Given the description of an element on the screen output the (x, y) to click on. 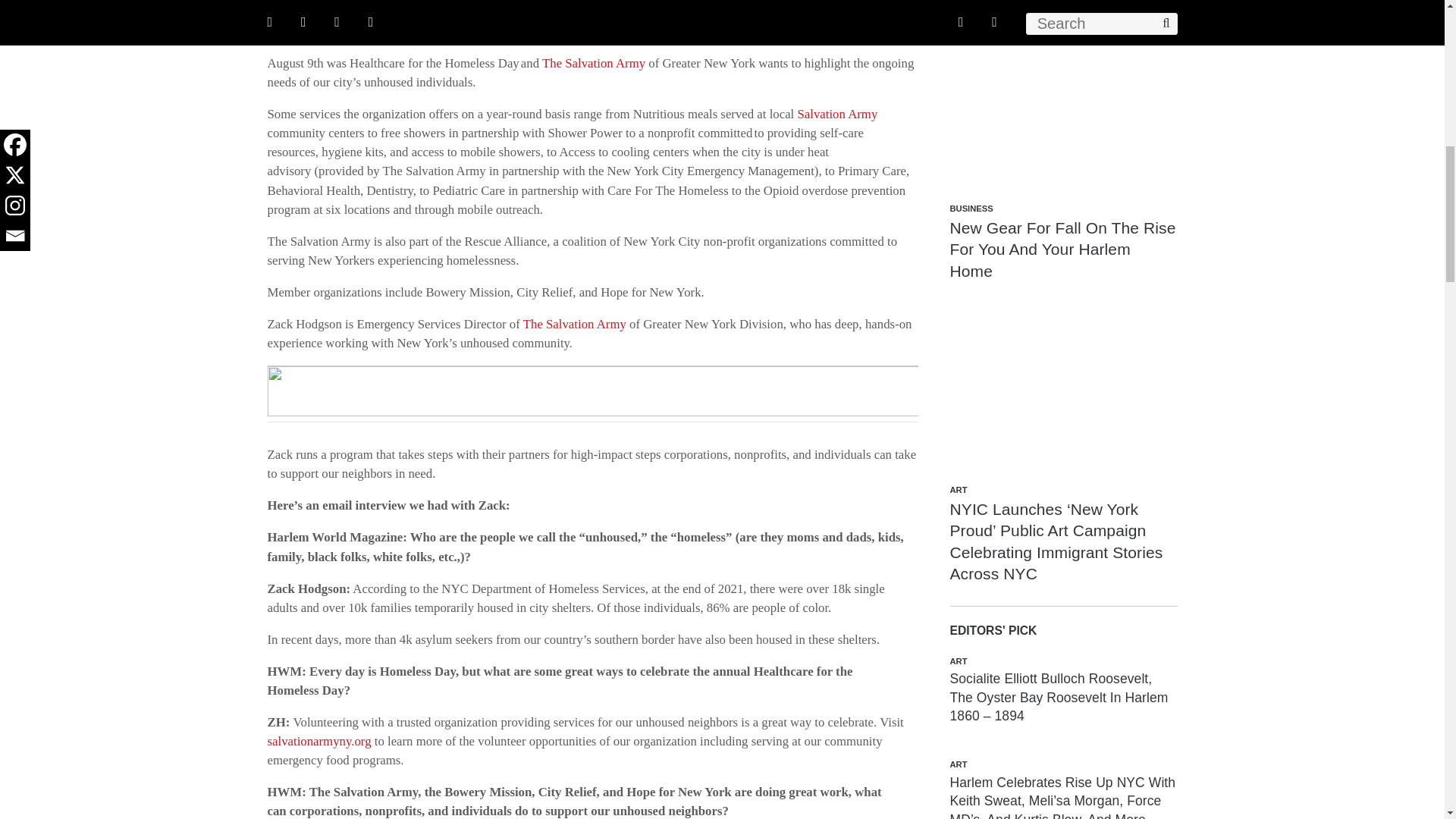
The Salvation Army (574, 323)
The Salvation Army (593, 63)
salvationarmyny.org (318, 740)
Salvation Army (836, 114)
